Given the description of an element on the screen output the (x, y) to click on. 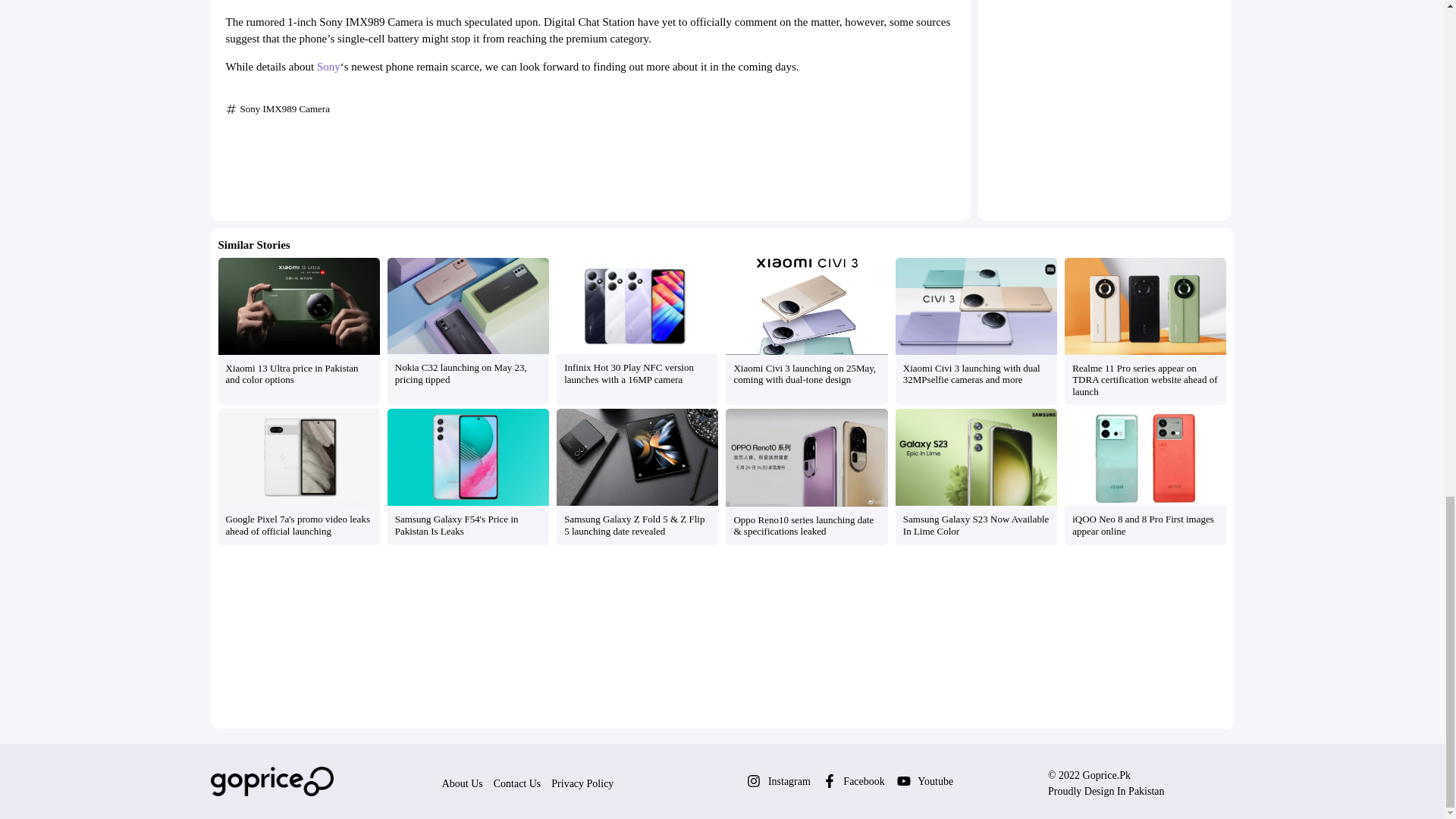
Advertisement (590, 165)
Sony IMX989 Camera (284, 108)
Sony (328, 66)
